Given the description of an element on the screen output the (x, y) to click on. 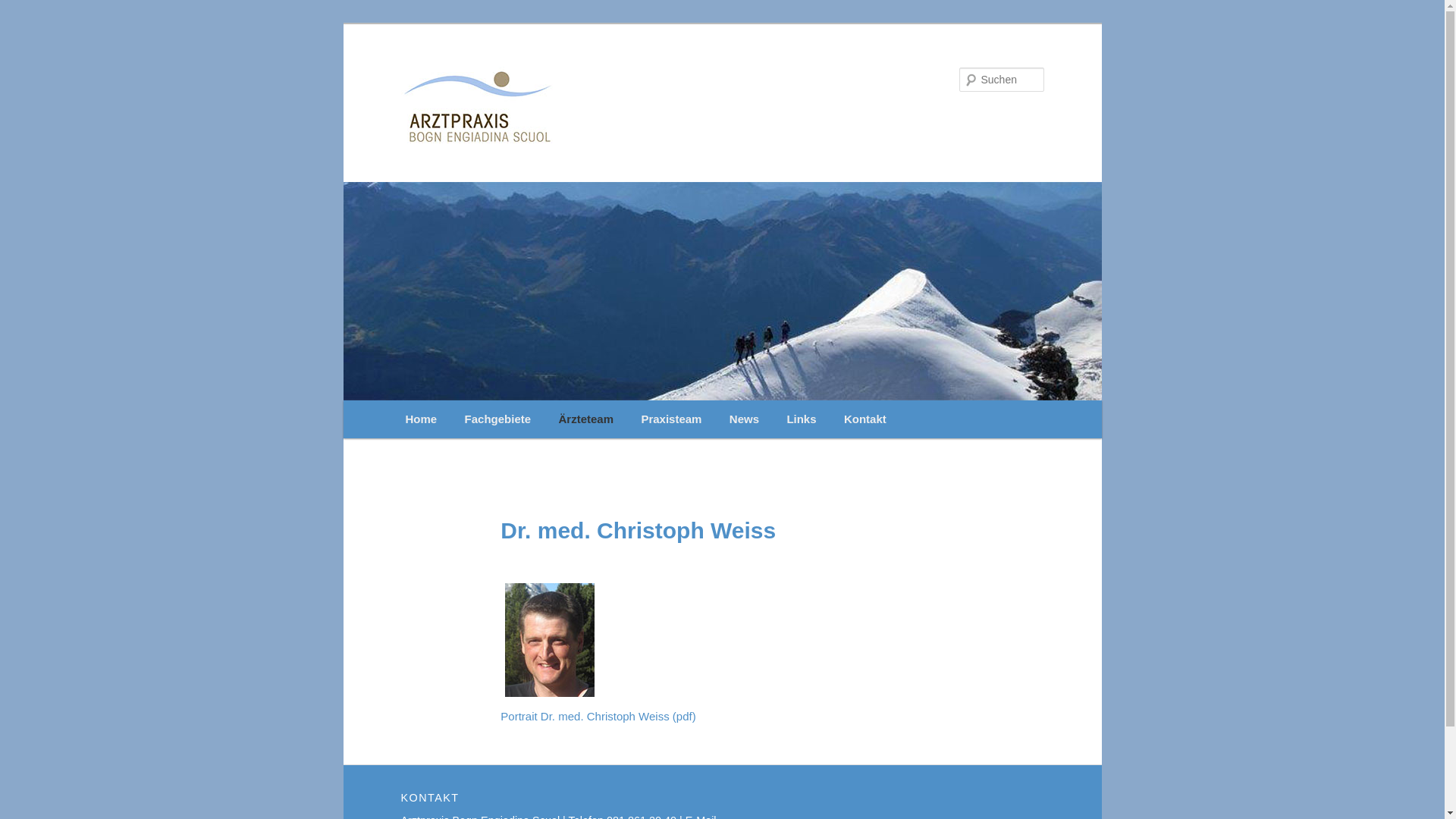
Zum Inhalt wechseln Element type: text (22, 22)
News Element type: text (744, 419)
Home Element type: text (420, 419)
Fachgebiete Element type: text (497, 419)
Kontakt Element type: text (865, 419)
Suchen Element type: text (25, 8)
Praxisteam Element type: text (671, 419)
Startseite Website Arztpraxis Bogn Engiadina Scuol Element type: hover (619, 104)
Links Element type: text (801, 419)
